Given the description of an element on the screen output the (x, y) to click on. 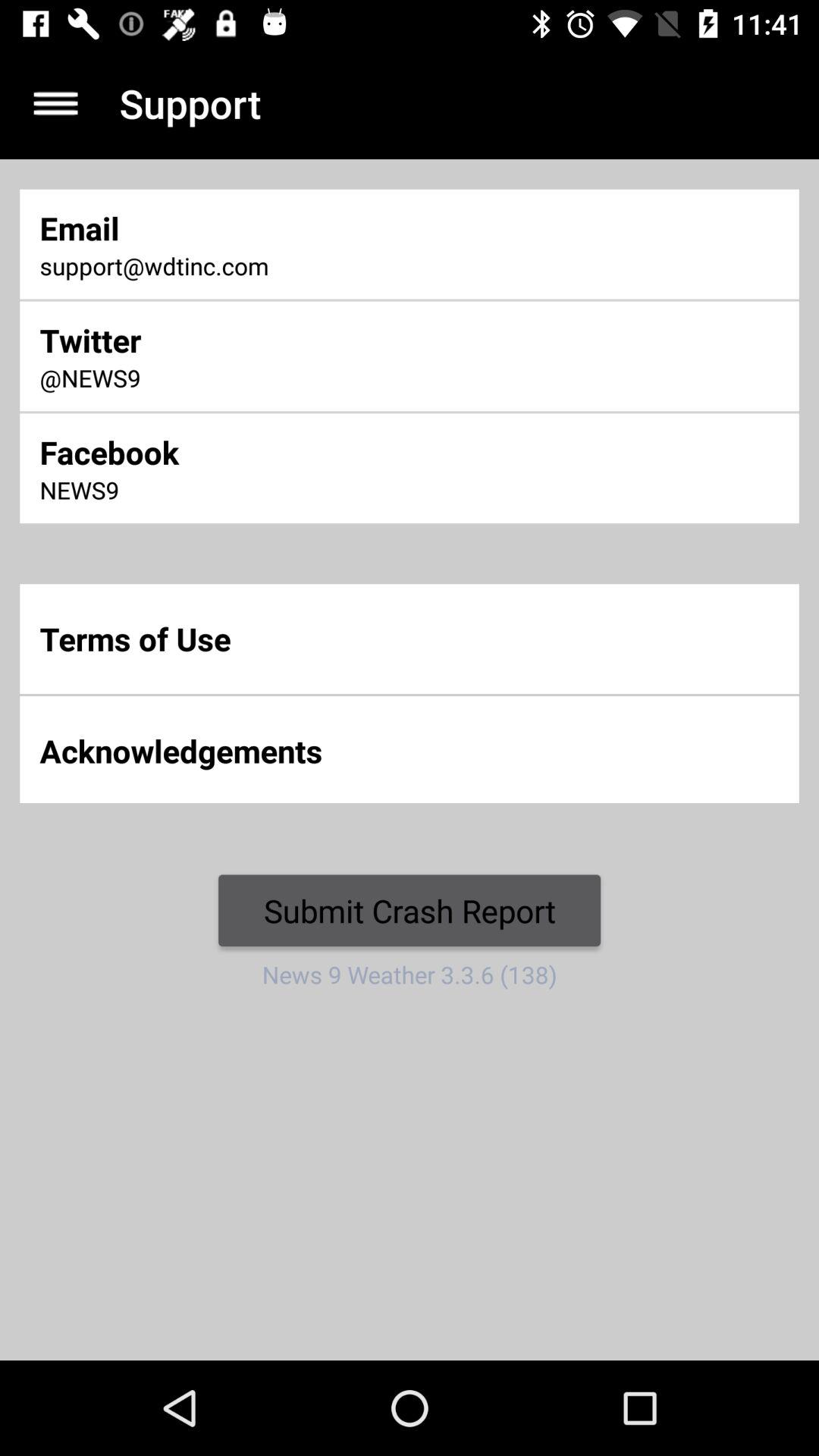
tap the item below @news9 (272, 451)
